Given the description of an element on the screen output the (x, y) to click on. 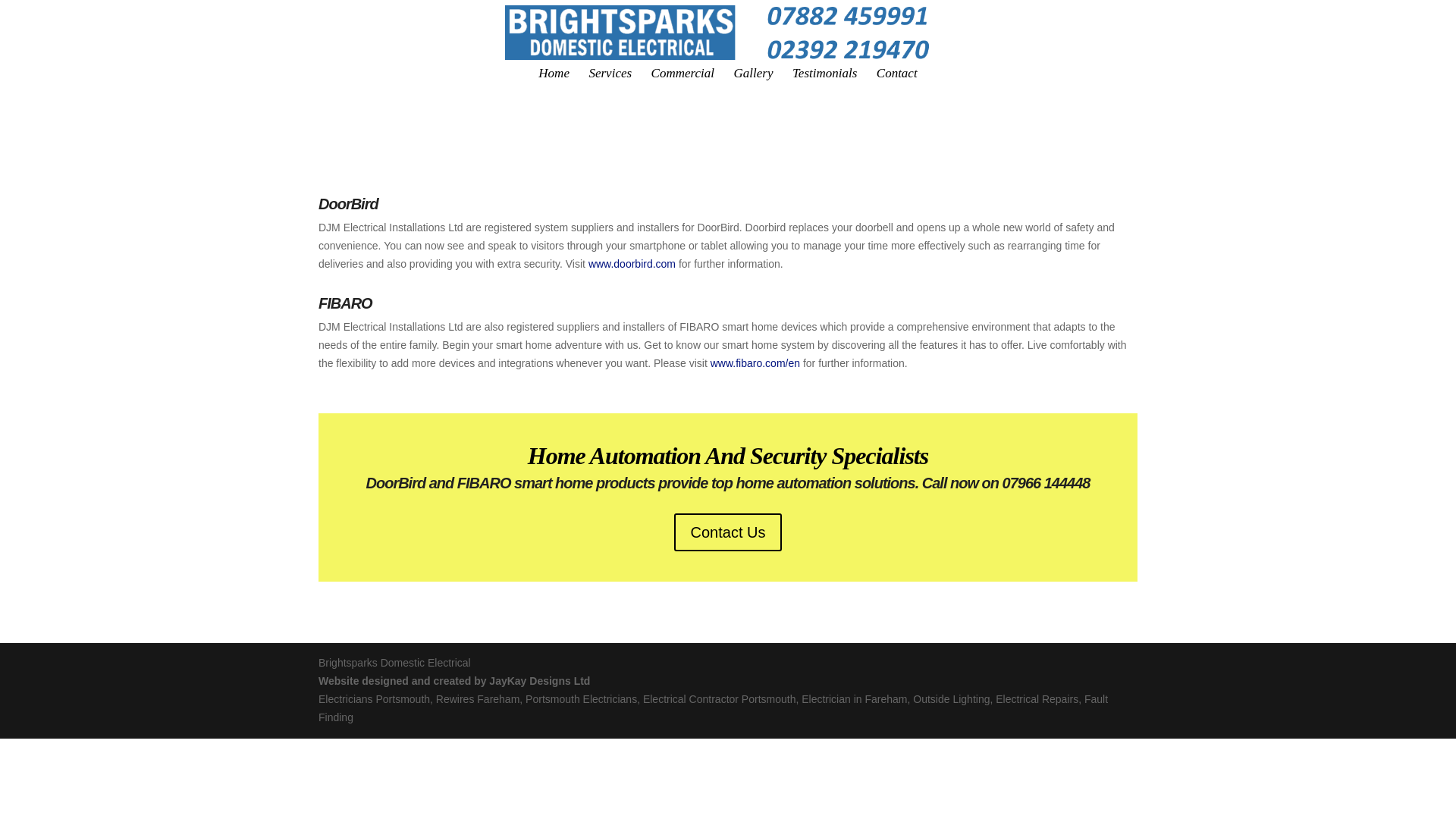
Commercial (682, 78)
Website designed and created by JayKay Designs Ltd (453, 680)
Gallery (753, 78)
Contact Us (738, 528)
Home (553, 78)
Contact (896, 78)
07966 144448 (988, 487)
Services (609, 78)
Testimonials (824, 78)
www.doorbird.com (631, 263)
